Given the description of an element on the screen output the (x, y) to click on. 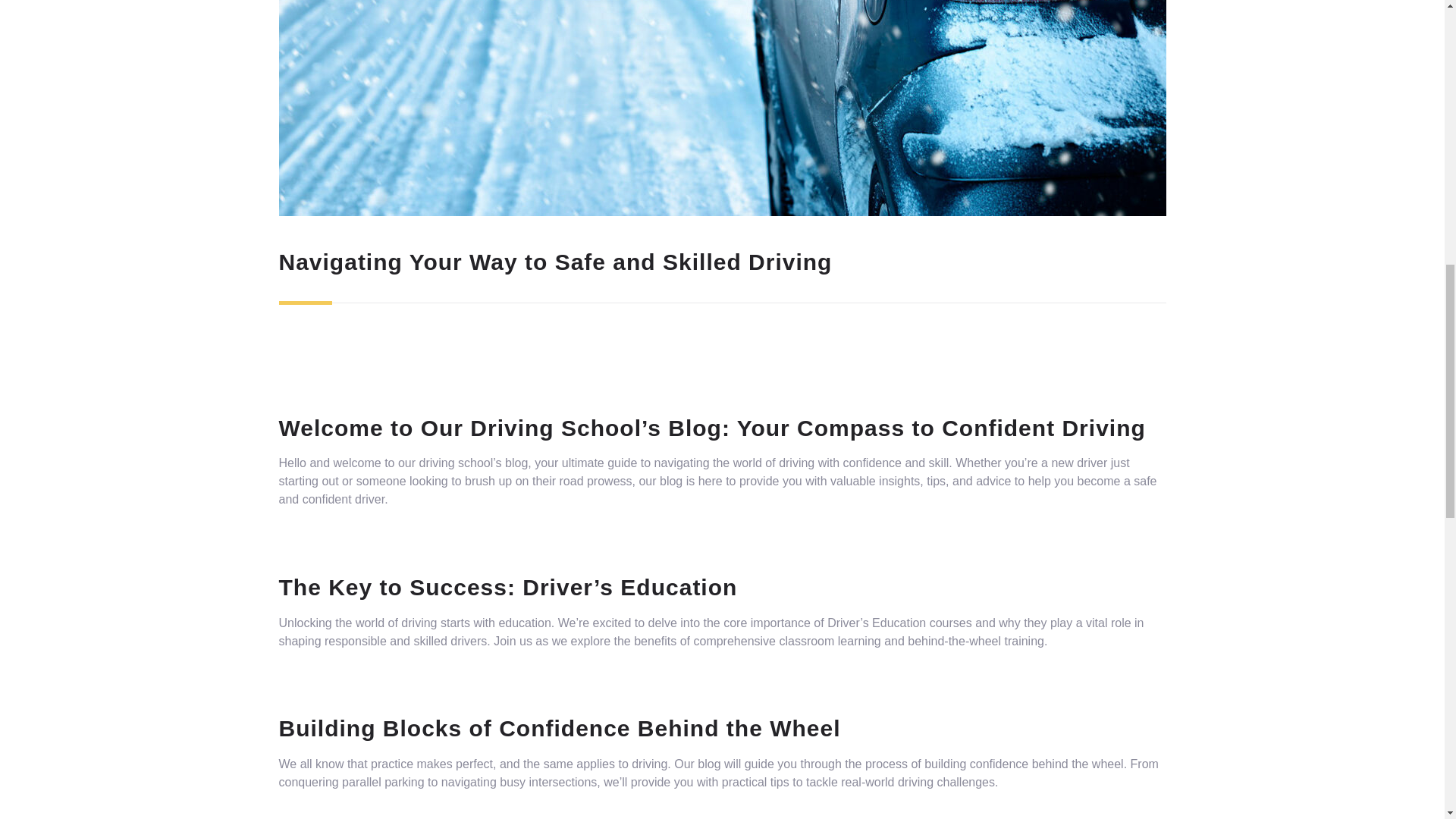
Navigating Your Way to Safe and Skilled Driving (555, 261)
